Given the description of an element on the screen output the (x, y) to click on. 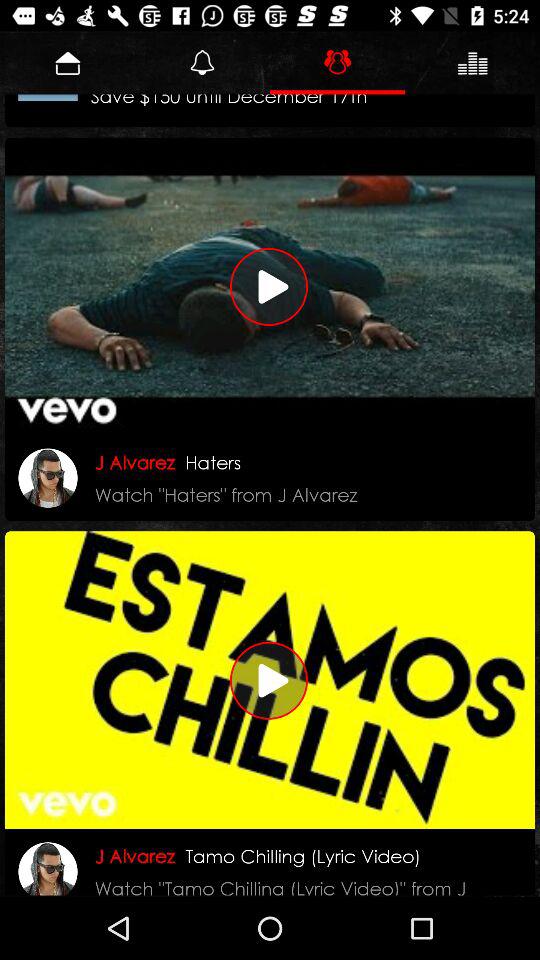
plays j alvarez tamo chilling video (269, 680)
